Given the description of an element on the screen output the (x, y) to click on. 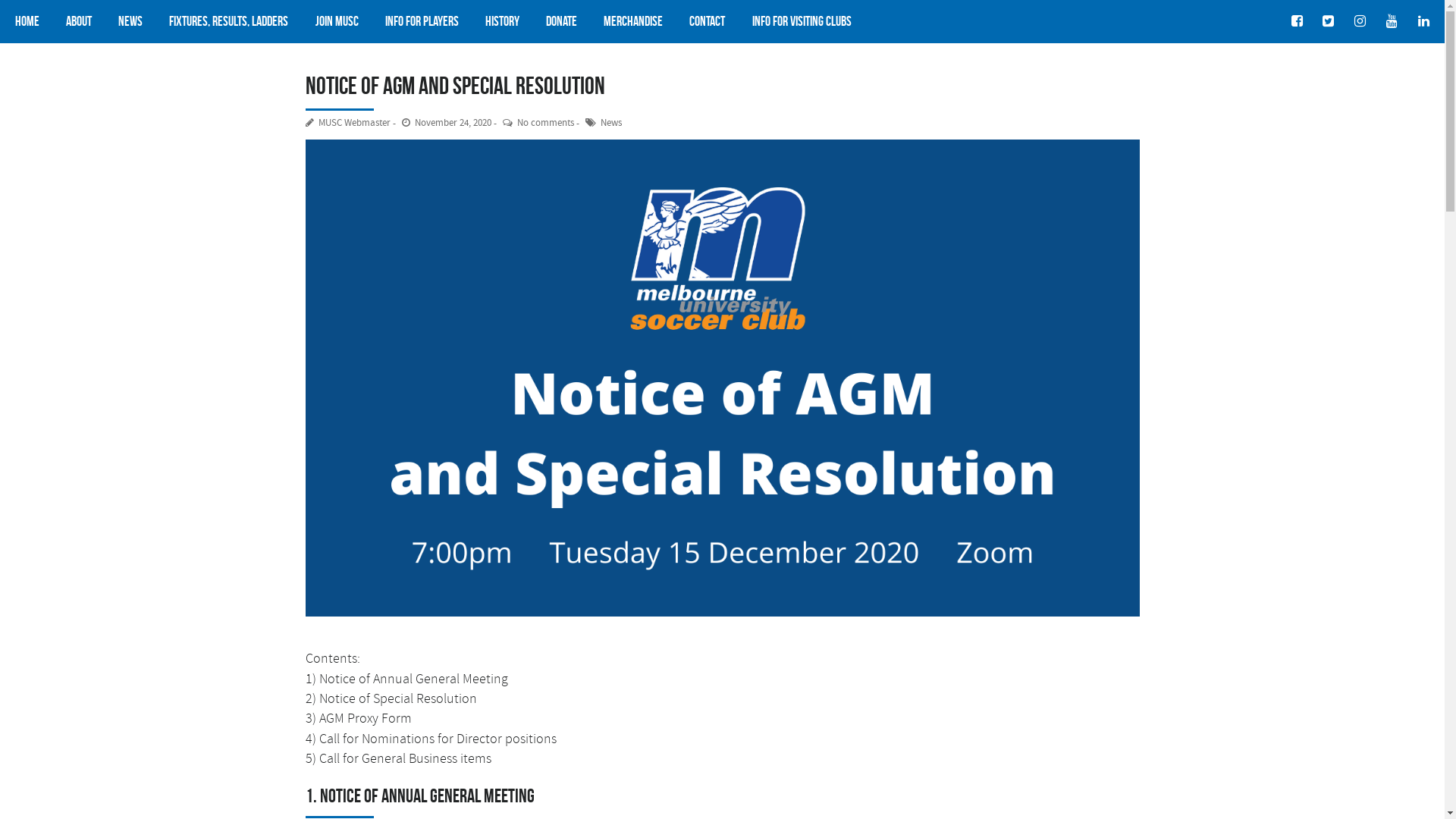
Fixtures, Results, Ladders Element type: text (228, 21)
News Element type: text (598, 122)
Donate Element type: text (561, 21)
Contact Element type: text (707, 21)
Merchandise Element type: text (633, 21)
About Element type: text (78, 21)
MUSC Webmaster Element type: text (346, 122)
Join MUSC Element type: text (336, 21)
No comments Element type: text (532, 122)
Info for Players Element type: text (421, 21)
Home Element type: text (28, 21)
History Element type: text (502, 21)
Info for Visiting Clubs Element type: text (799, 21)
News Element type: text (130, 21)
November 24, 2020 Element type: text (441, 122)
notice-of-2020-agm Element type: hover (721, 377)
